Given the description of an element on the screen output the (x, y) to click on. 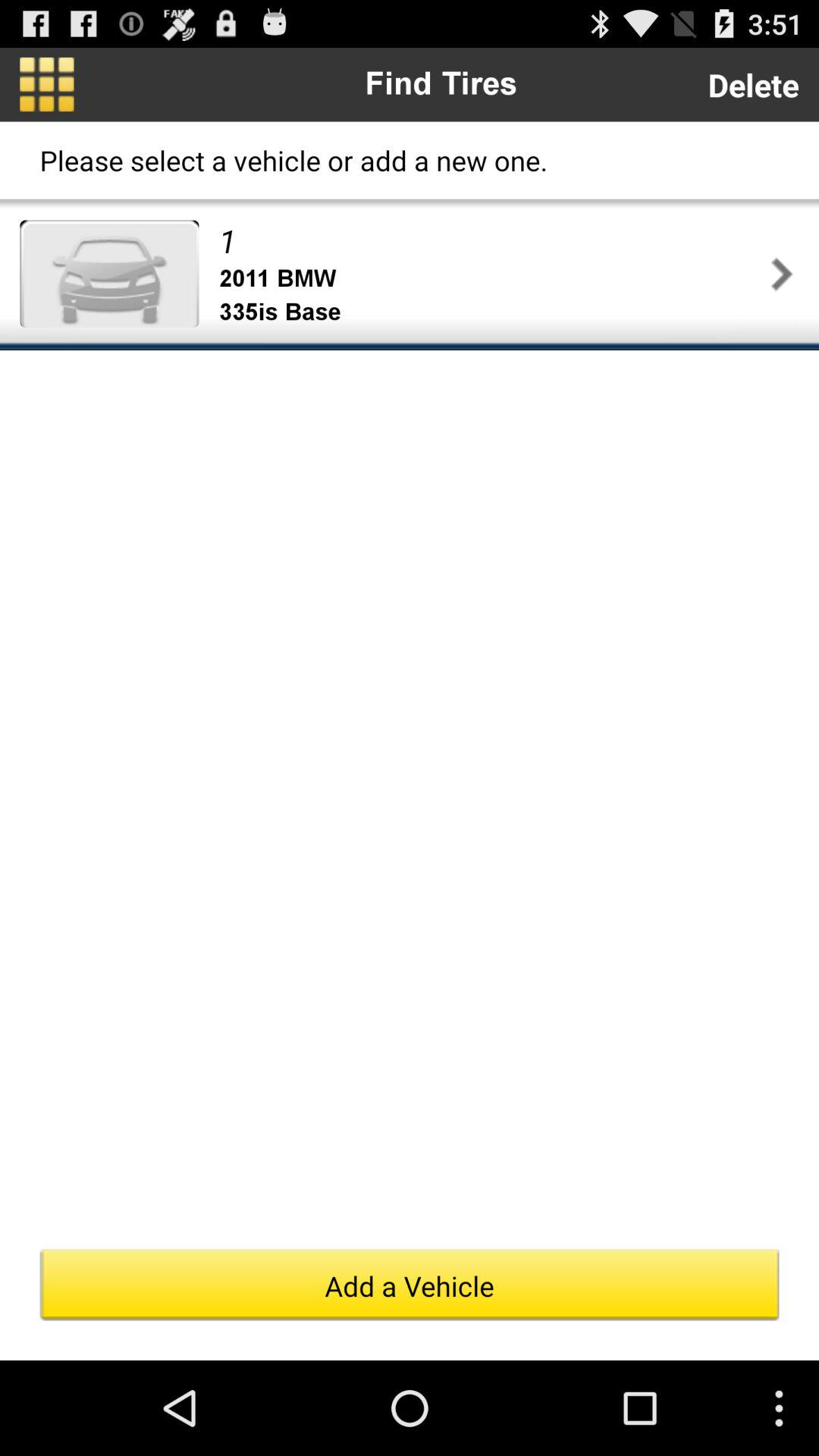
press the delete (753, 84)
